Given the description of an element on the screen output the (x, y) to click on. 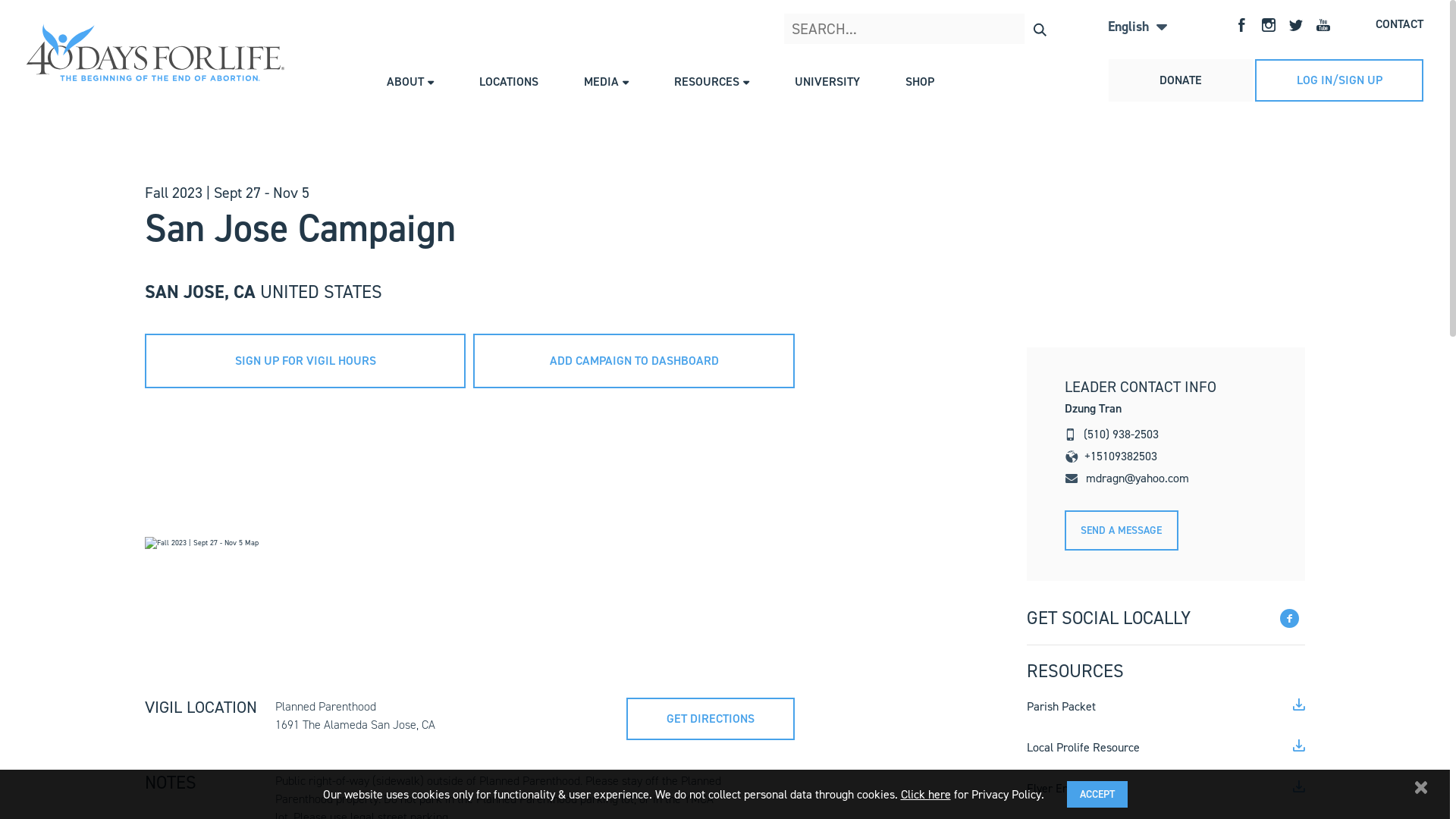
LOCATIONS Element type: text (508, 81)
GET DIRECTIONS Element type: text (710, 718)
ADD CAMPAIGN TO DASHBOARD Element type: text (633, 360)
DONATE Element type: text (1180, 80)
LOG IN/SIGN UP Element type: text (1339, 80)
Click here Element type: text (925, 793)
CONTACT Element type: text (1399, 23)
SHOP Element type: text (919, 81)
UNIVERSITY Element type: text (826, 81)
SIGN UP FOR VIGIL HOURS Element type: text (304, 360)
ACCEPT Element type: text (1096, 794)
SEND A MESSAGE Element type: text (1121, 530)
